Given the description of an element on the screen output the (x, y) to click on. 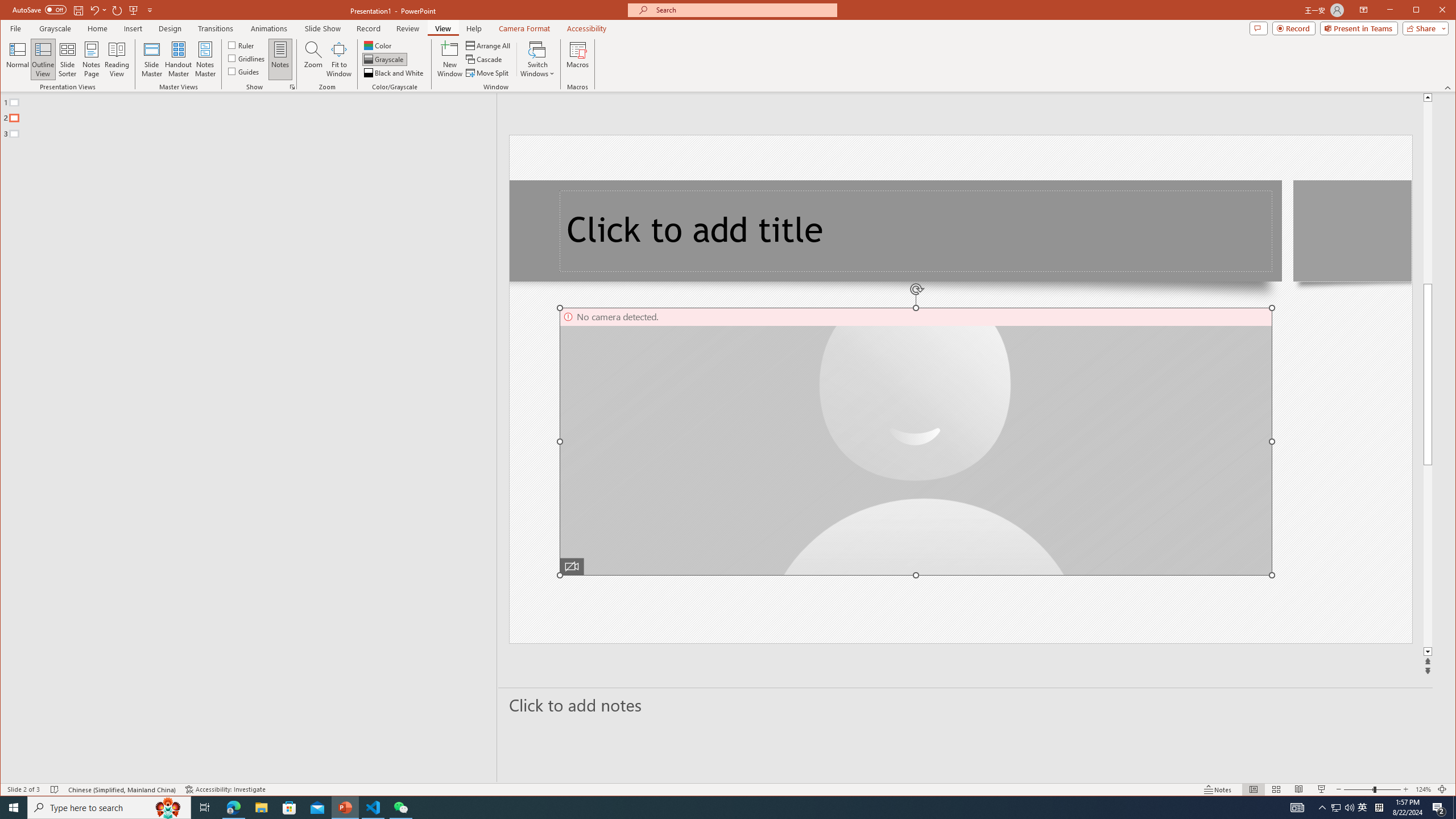
New Window (450, 59)
Q2790: 100% (1349, 807)
Outline (252, 115)
Move Split (488, 72)
Camera 4, No camera detected. (915, 441)
Gridlines (246, 57)
